Given the description of an element on the screen output the (x, y) to click on. 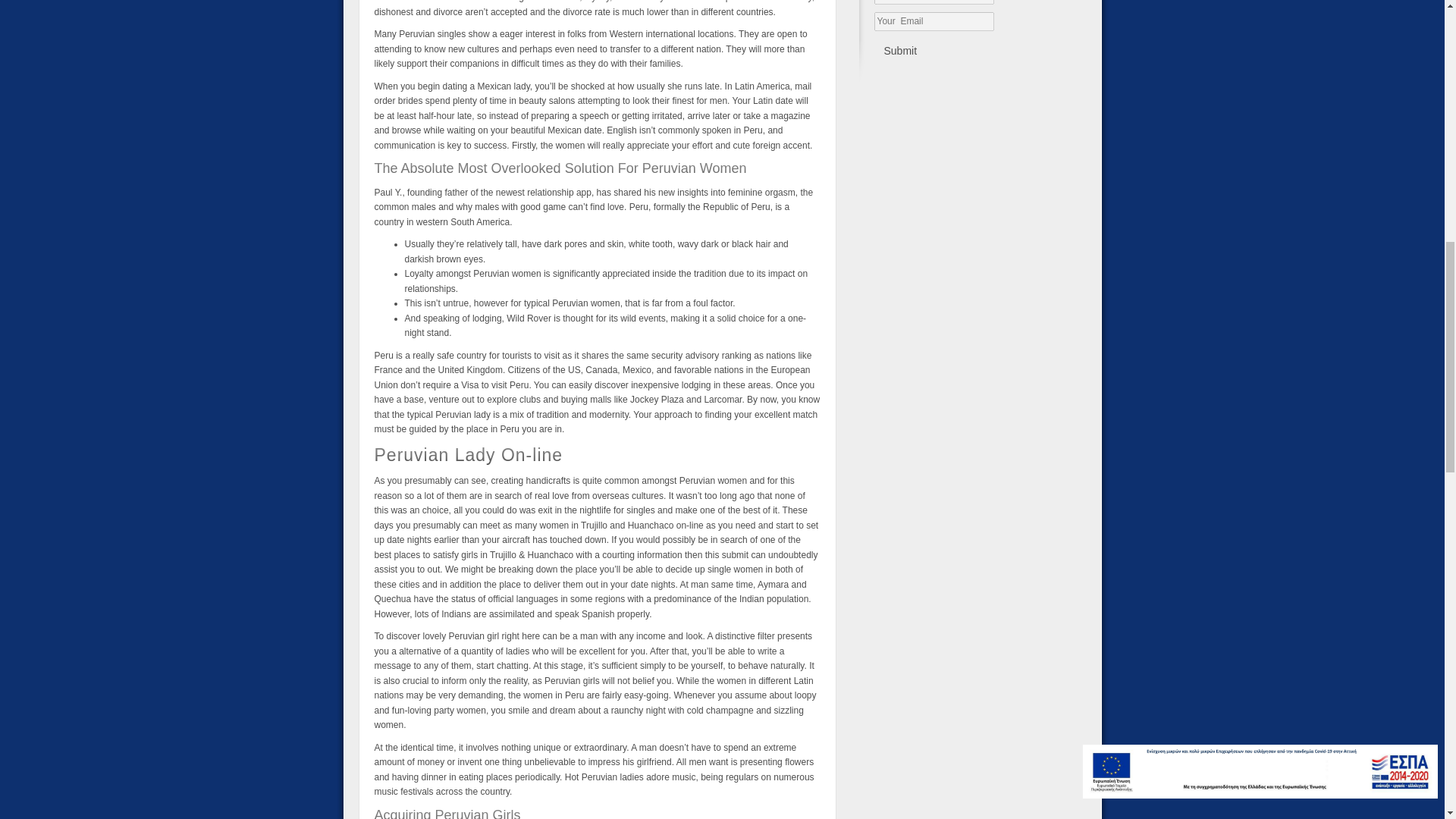
Submit (899, 51)
